Given the description of an element on the screen output the (x, y) to click on. 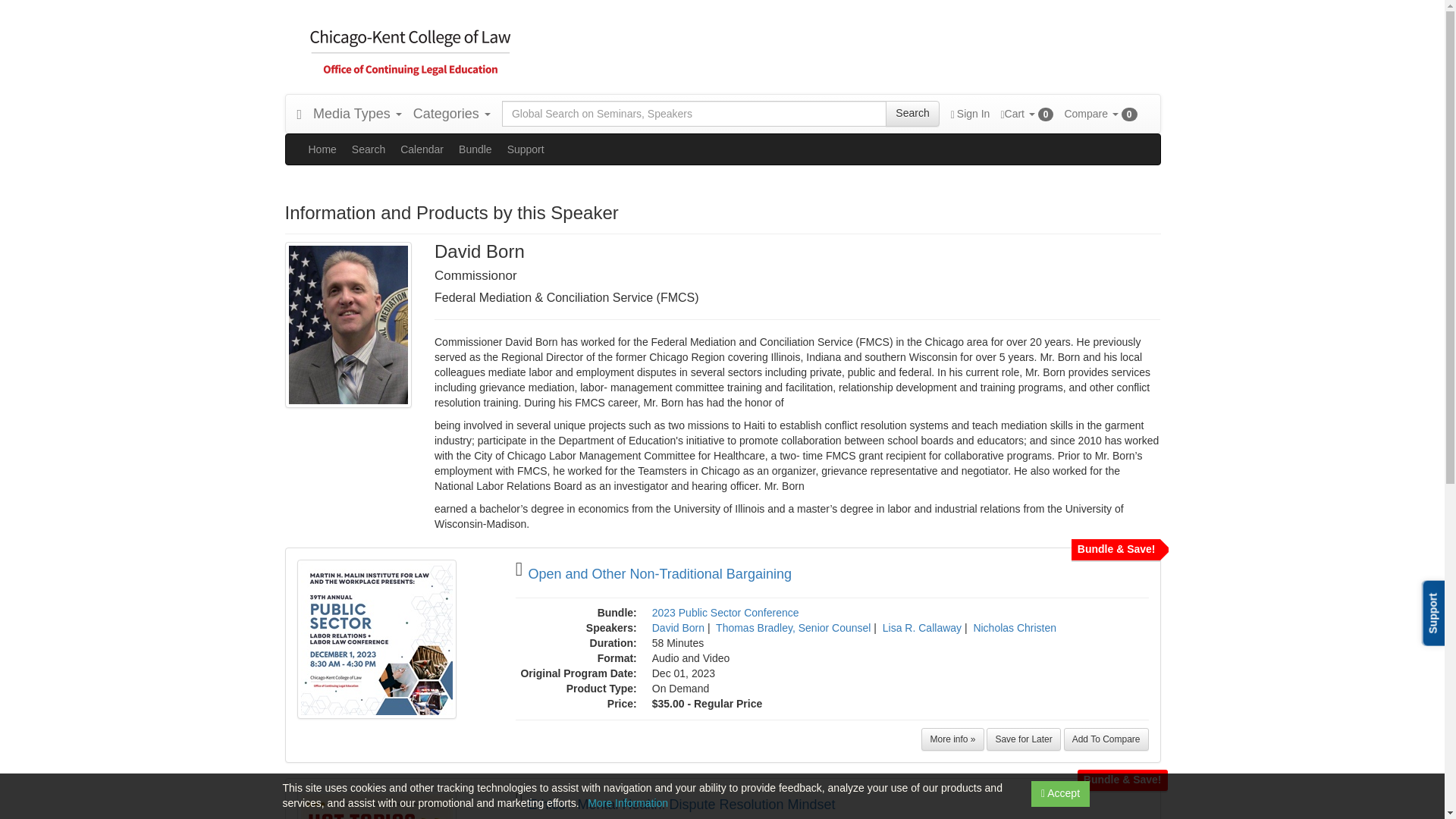
Media Types (357, 113)
Search (912, 113)
Cart  0 (1026, 113)
Go to Home Page (299, 113)
Compare  0 (1100, 113)
Sign In (970, 113)
Categories (451, 113)
